Given the description of an element on the screen output the (x, y) to click on. 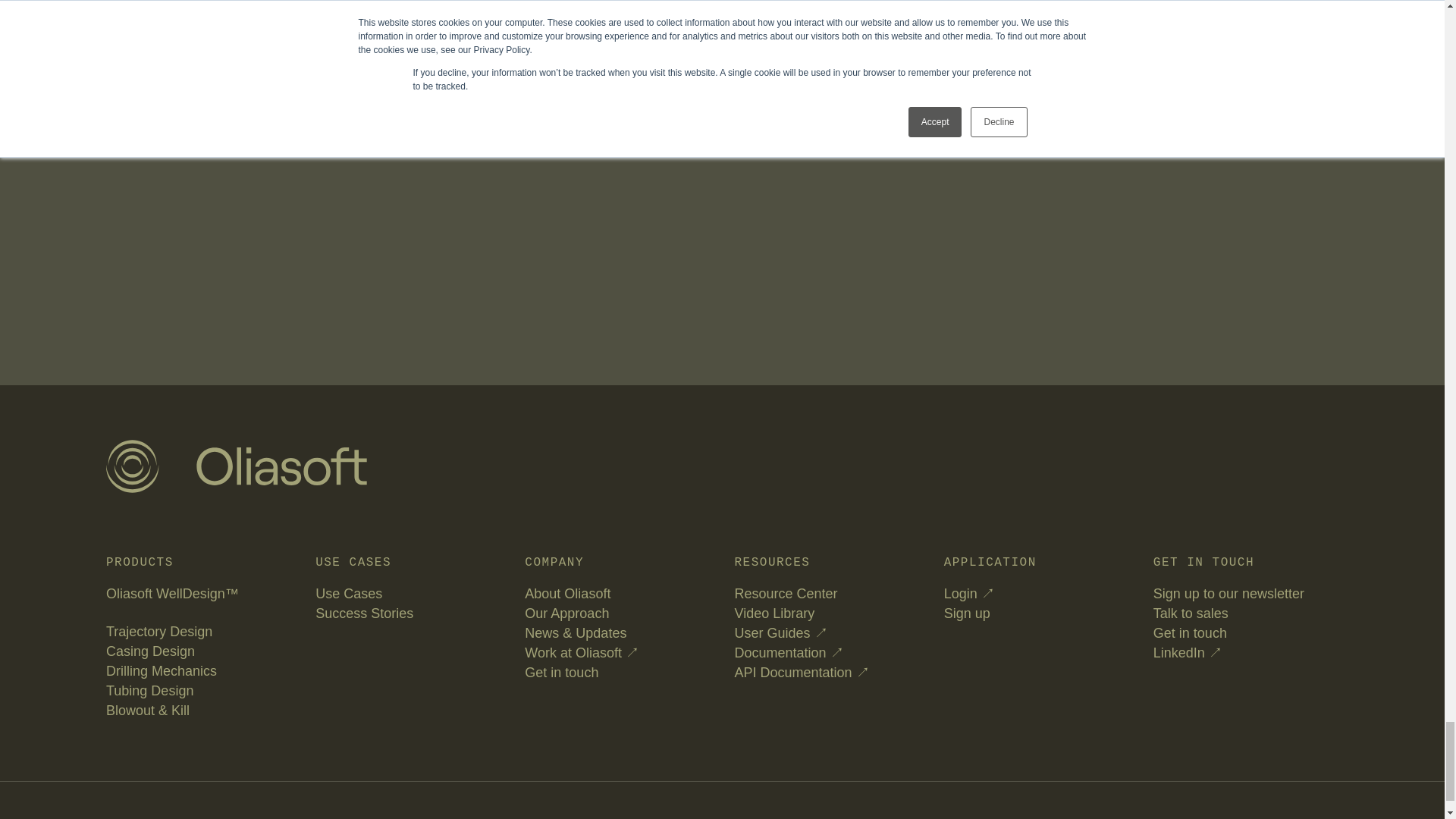
Tubing Design (149, 690)
Drilling Mechanics (161, 670)
GET IN TOUCH (299, 99)
TALK TO SALES (168, 99)
Casing Design (150, 651)
Trajectory Design (159, 631)
